Given the description of an element on the screen output the (x, y) to click on. 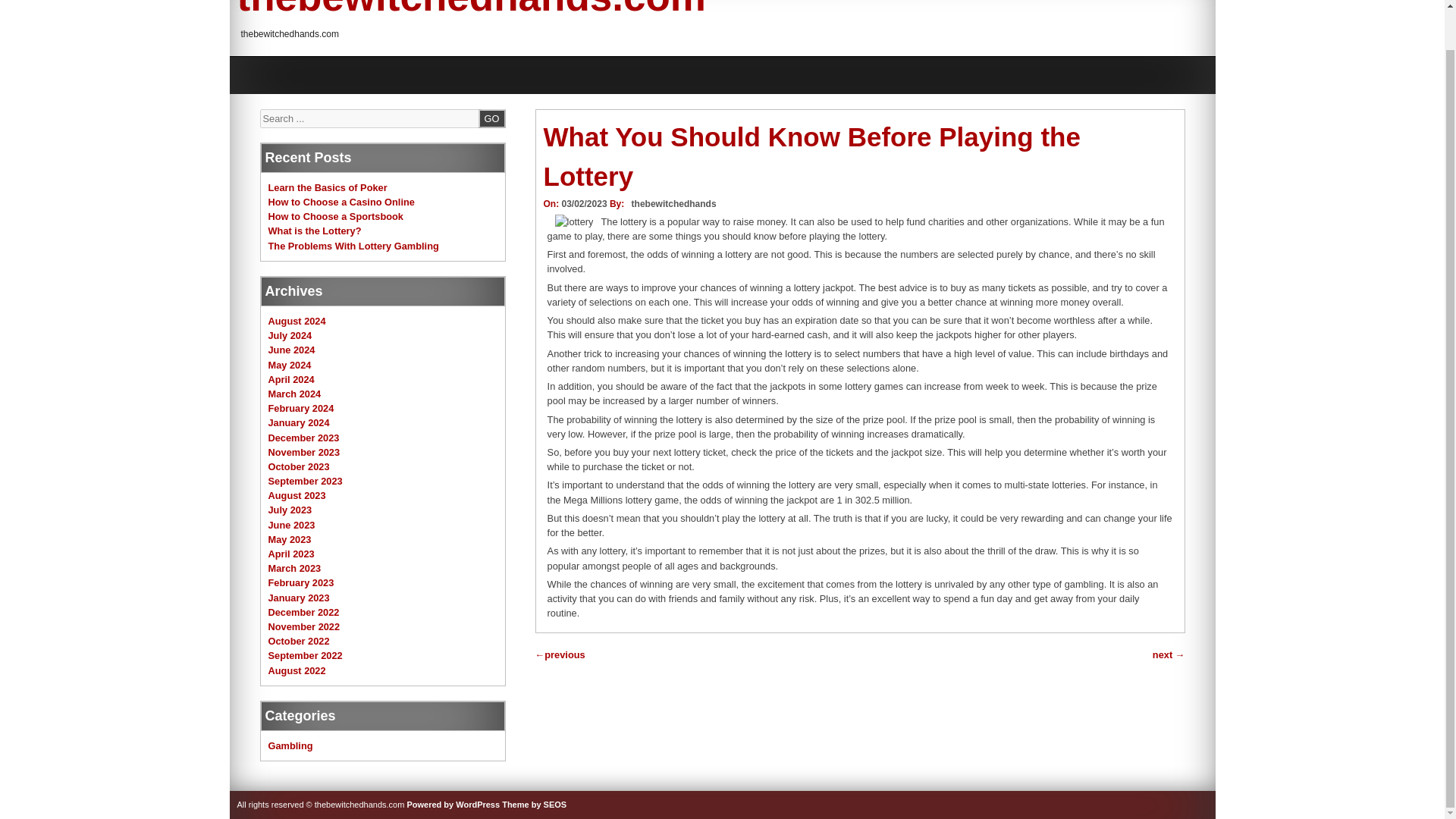
August 2023 (296, 495)
January 2023 (298, 597)
The Problems With Lottery Gambling (353, 245)
thebewitchedhands.com (469, 9)
December 2023 (303, 437)
December 2022 (303, 612)
Seos free wordpress themes (534, 804)
August 2022 (296, 670)
GO (492, 117)
September 2023 (304, 480)
